Given the description of an element on the screen output the (x, y) to click on. 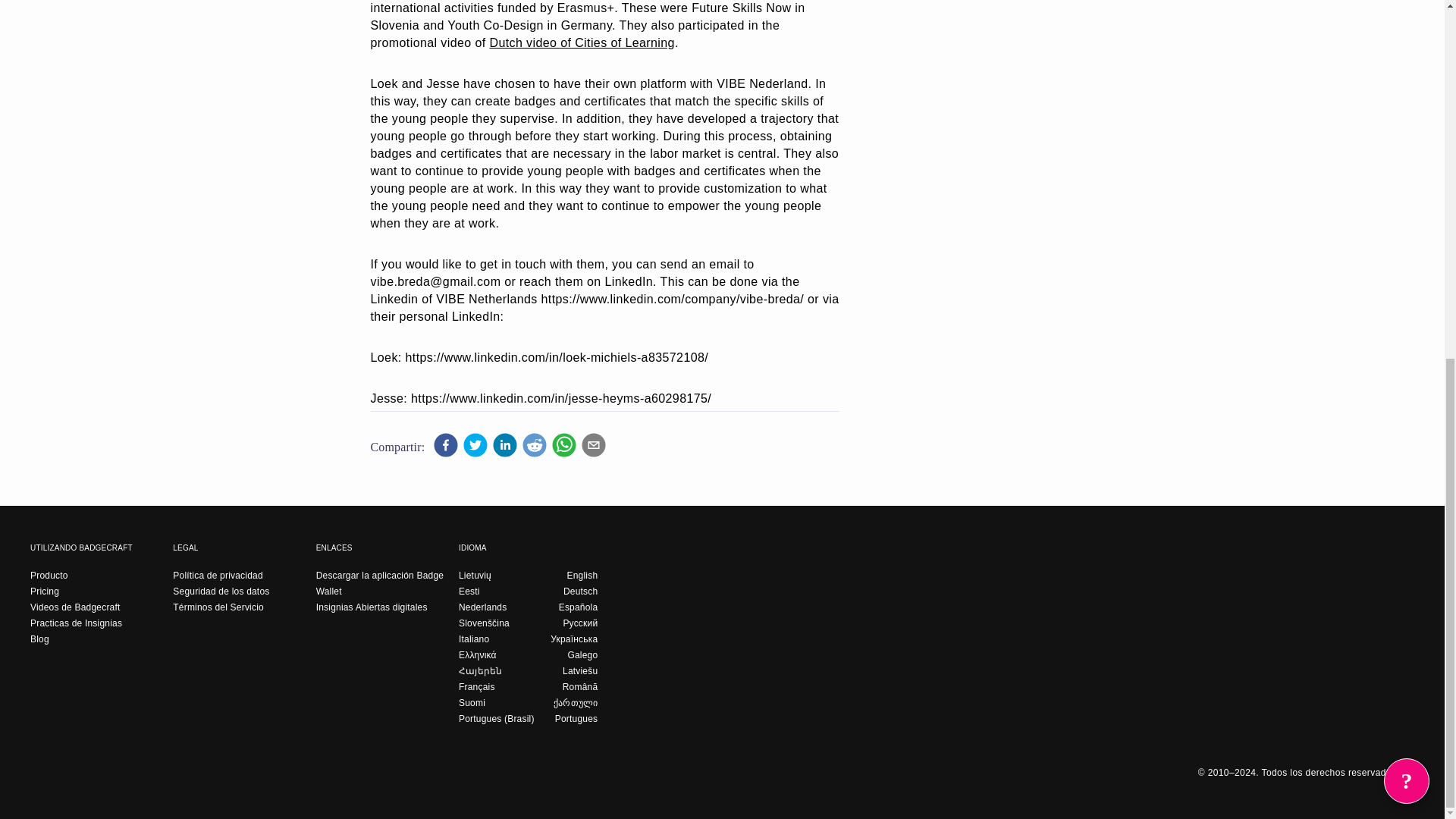
Italiano (473, 638)
Dutch video of Cities of Learning (581, 42)
English (582, 575)
Eesti (469, 590)
Blog (39, 638)
Videos de Badgecraft (75, 606)
Deutsch (579, 590)
Practicas de Insignias (76, 622)
Insignias Abiertas digitales (371, 606)
Galego (581, 654)
